Given the description of an element on the screen output the (x, y) to click on. 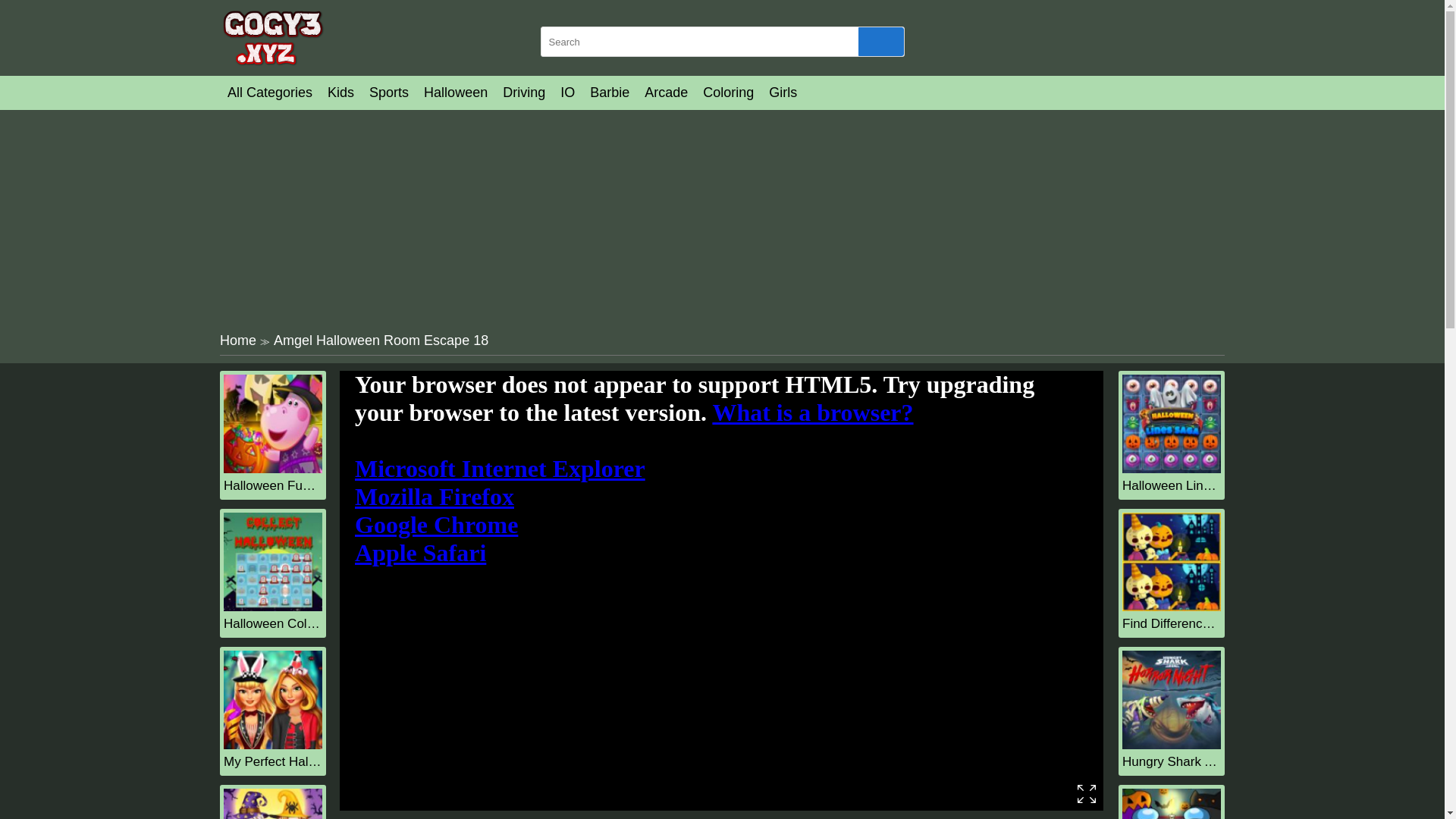
Halloween (455, 92)
Girls (783, 92)
My Perfect Halloween Costume (272, 744)
Sports (388, 92)
All category (269, 92)
My Perfect Halloween Costume (272, 761)
Coloring (728, 92)
Driving (524, 92)
Halloween Funny Pumpkins (272, 468)
Kids (340, 92)
Driving (524, 92)
Arcade (666, 92)
Halloween Funny Pumpkins (272, 485)
Coloring (728, 92)
